Given the description of an element on the screen output the (x, y) to click on. 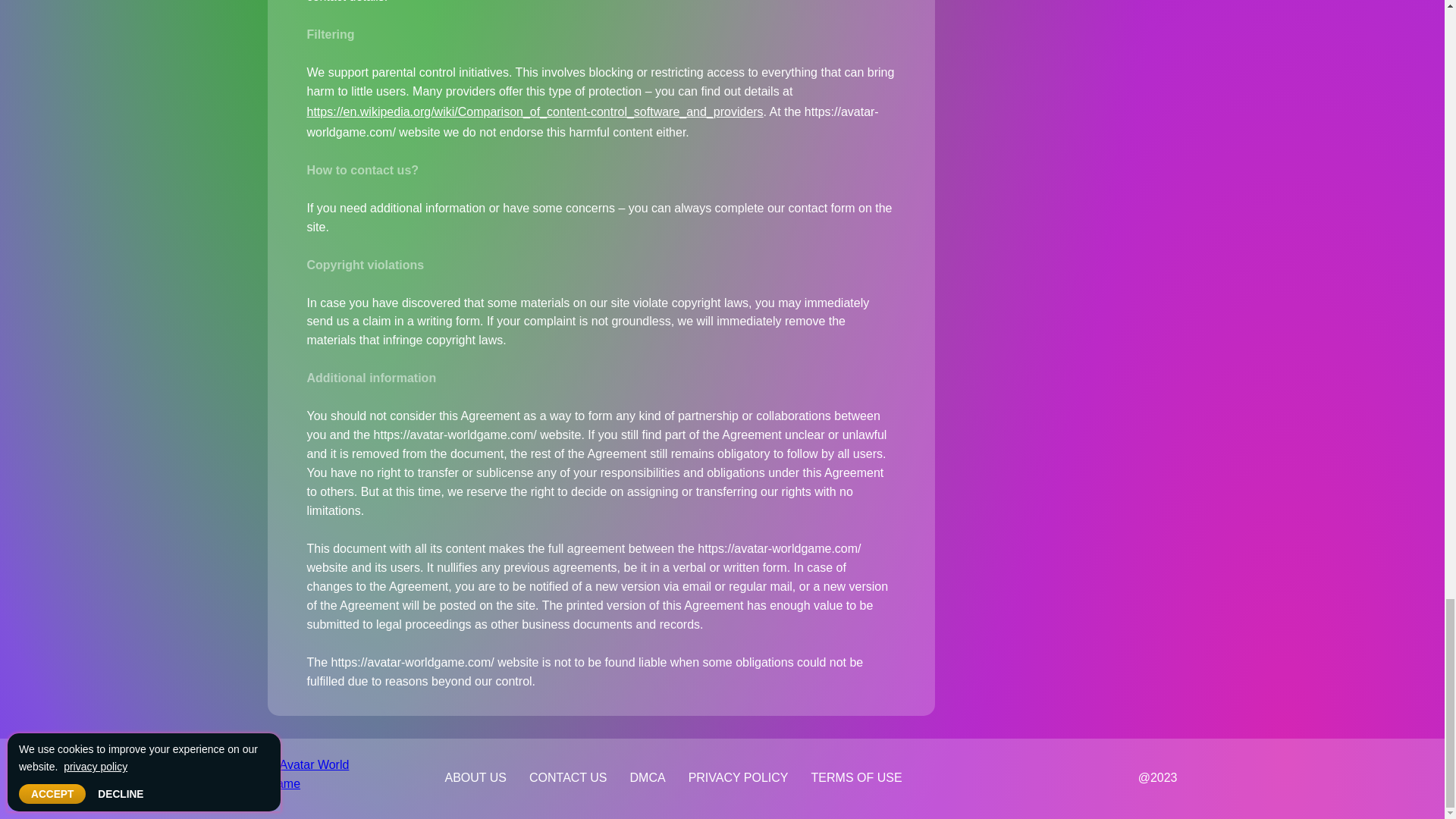
PRIVACY POLICY (738, 777)
TERMS OF USE (856, 777)
ABOUT US (475, 777)
CONTACT US (568, 777)
DMCA (647, 777)
